Given the description of an element on the screen output the (x, y) to click on. 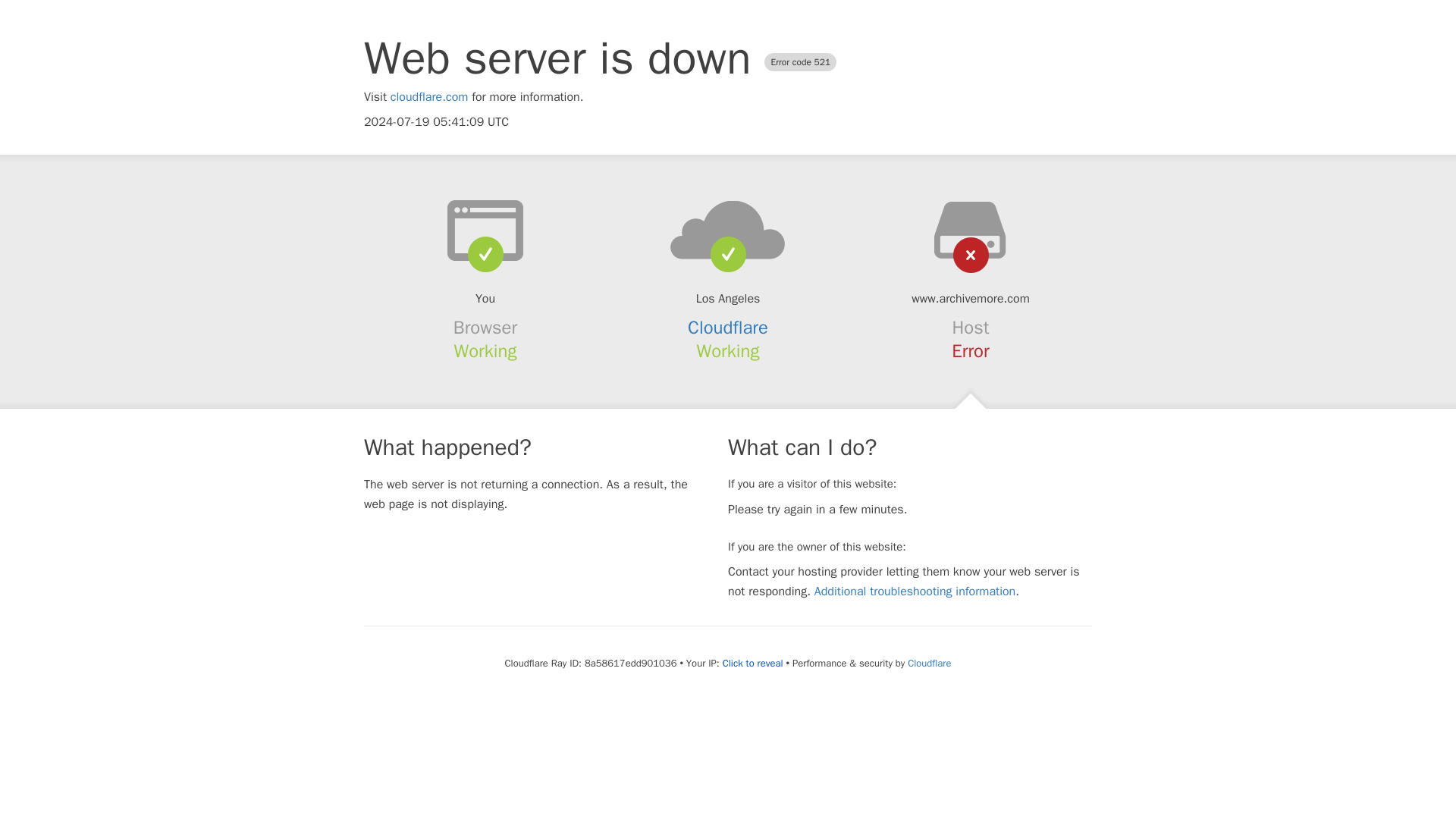
Cloudflare (928, 662)
Click to reveal (752, 663)
cloudflare.com (429, 96)
Additional troubleshooting information (913, 590)
Cloudflare (727, 327)
